Given the description of an element on the screen output the (x, y) to click on. 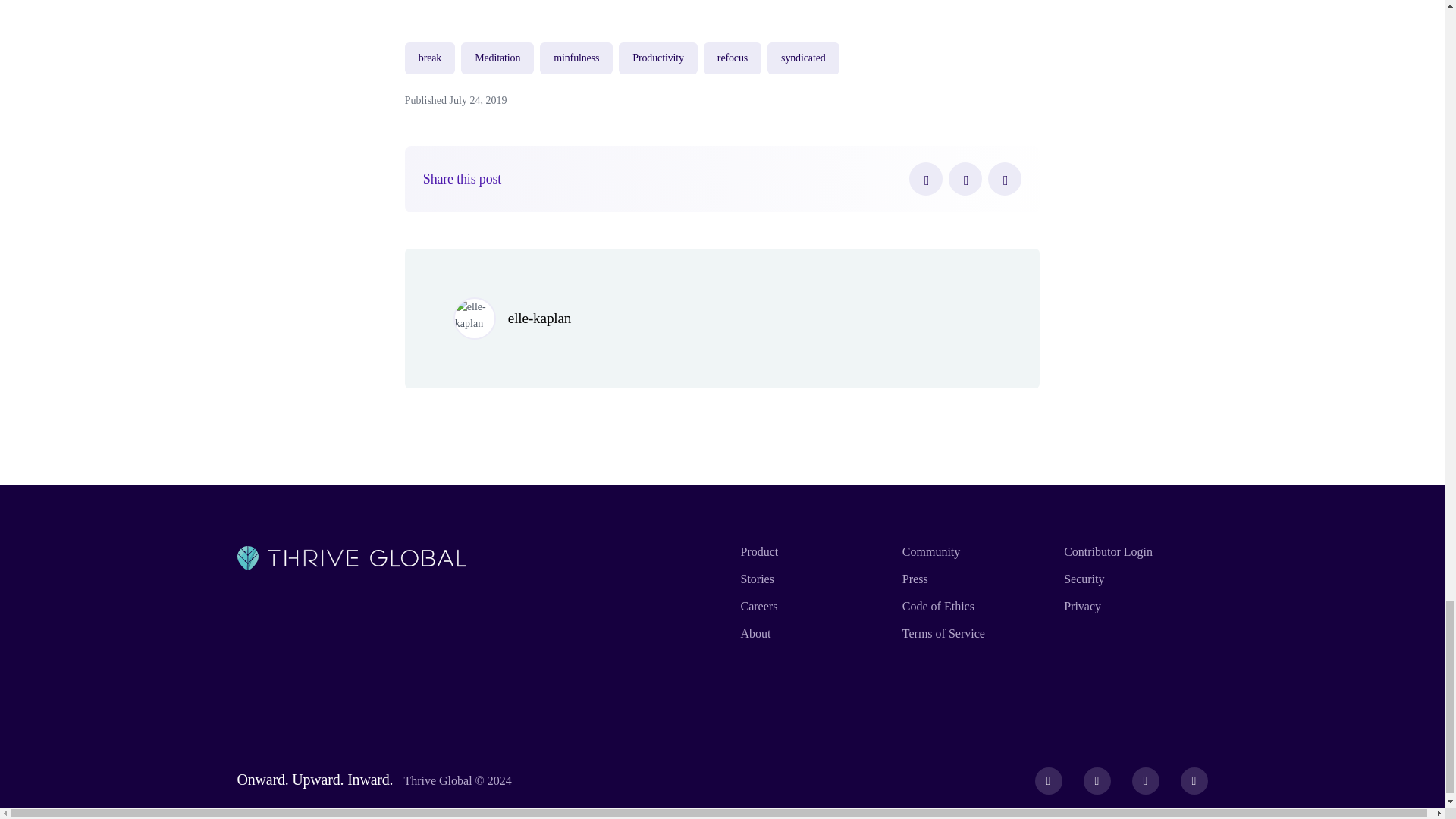
LinkedIn (1005, 178)
Twitter (965, 178)
Facebook (925, 178)
elle-kaplan (539, 317)
